Given the description of an element on the screen output the (x, y) to click on. 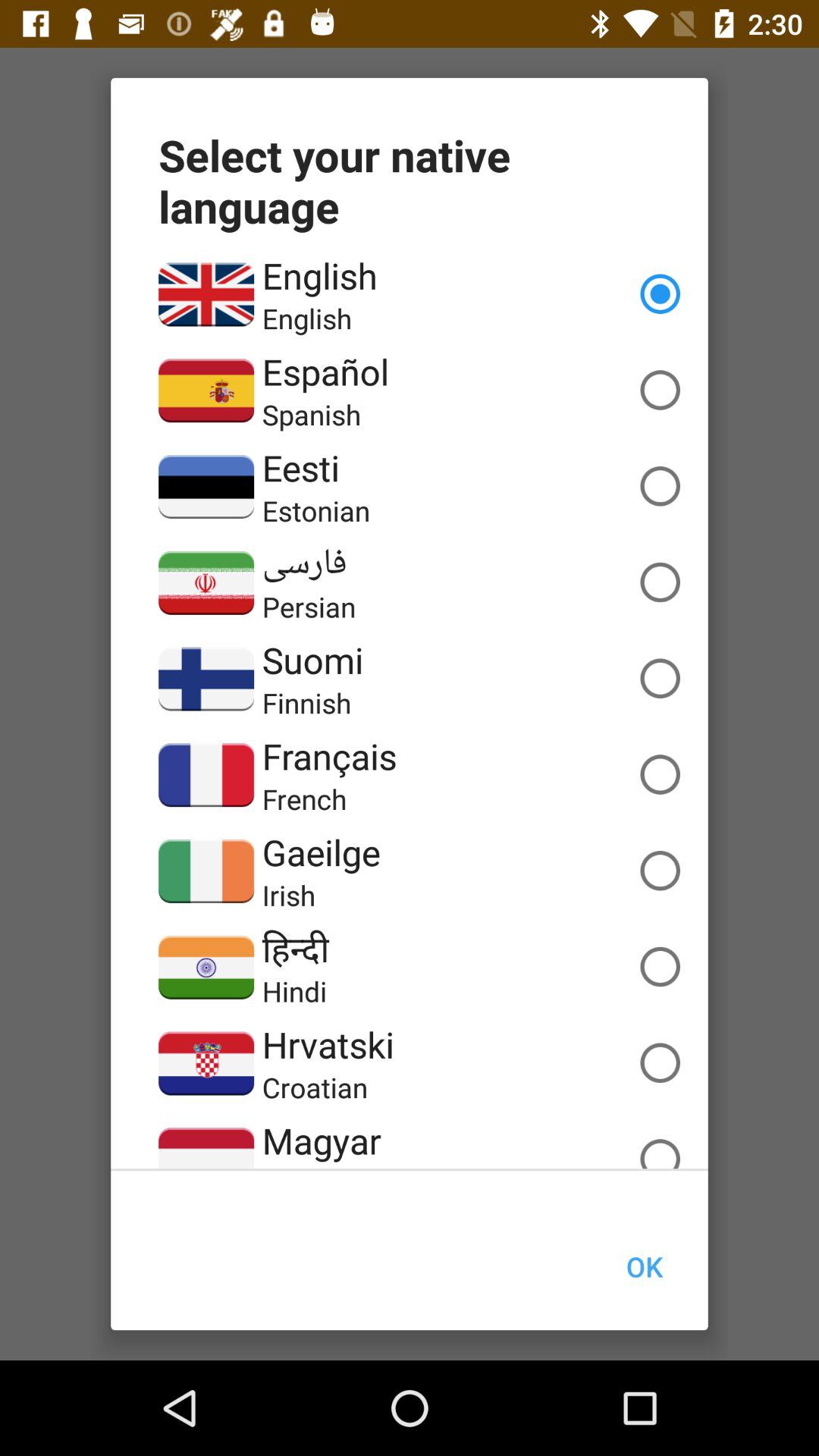
select app below magyar item (326, 1166)
